Given the description of an element on the screen output the (x, y) to click on. 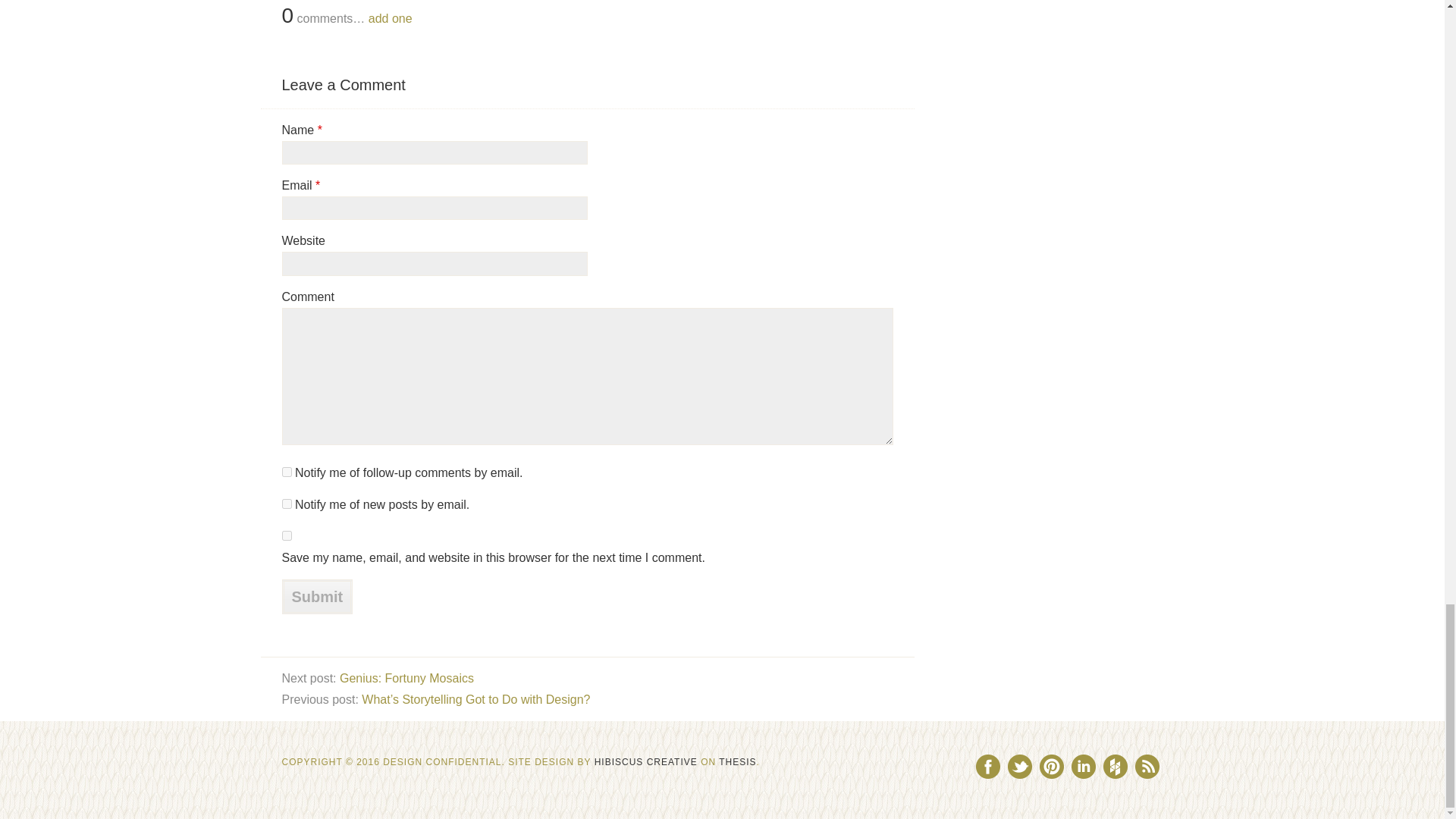
Submit (317, 596)
Required (319, 129)
subscribe (287, 503)
add one (390, 18)
yes (287, 535)
Genius: Fortuny Mosaics (406, 677)
subscribe (287, 471)
Required (317, 185)
Submit (317, 596)
